Given the description of an element on the screen output the (x, y) to click on. 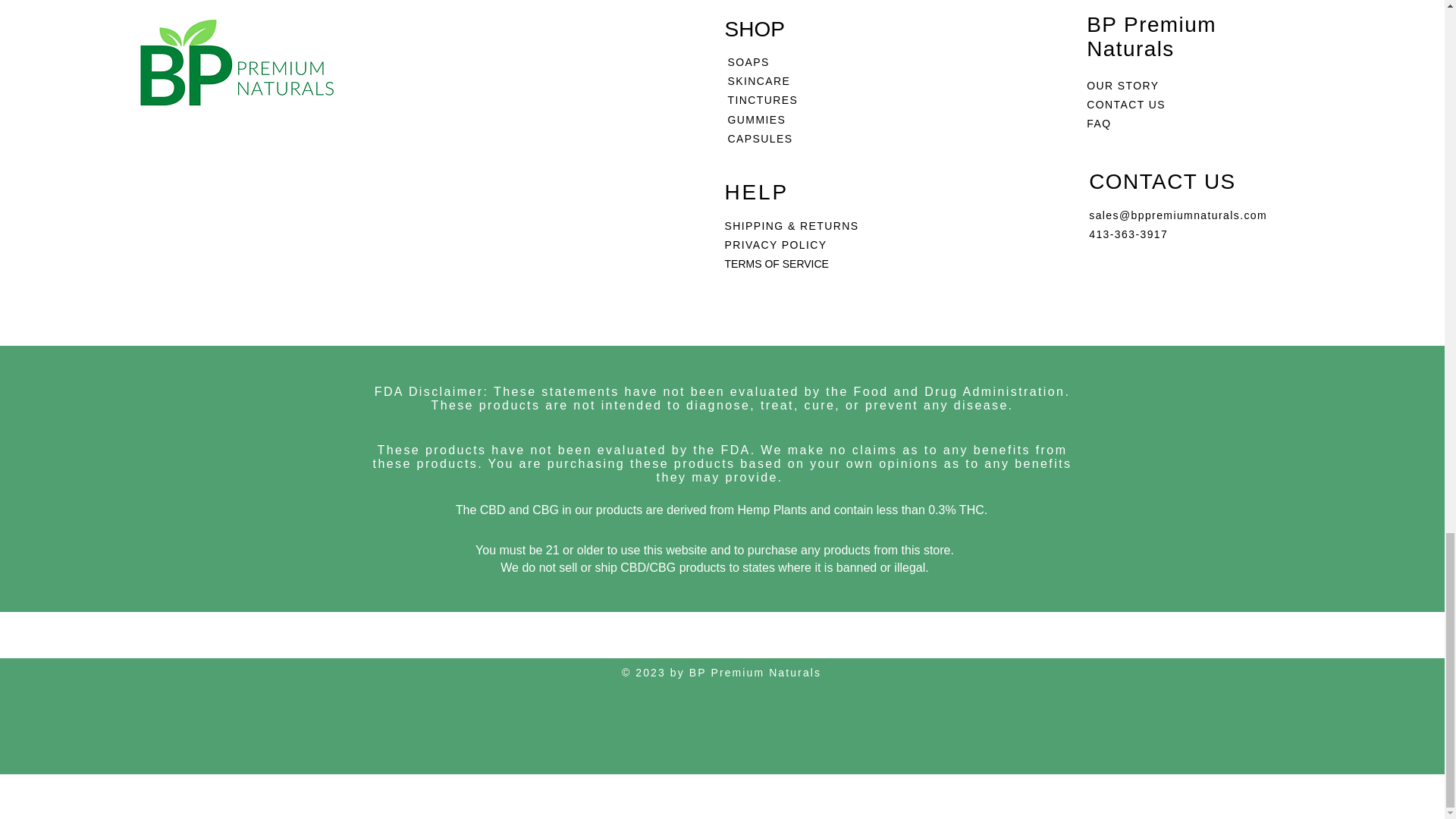
PRIVACY POLICY  (778, 244)
GUMMIES (757, 119)
TERMS OF SERVICE (776, 263)
SOAPS (749, 61)
TINCTURES (762, 100)
SKINCARE (759, 80)
BP Premium Naturals logo.png (237, 71)
CAPSULES (760, 138)
CONTACT US (1126, 104)
